Given the description of an element on the screen output the (x, y) to click on. 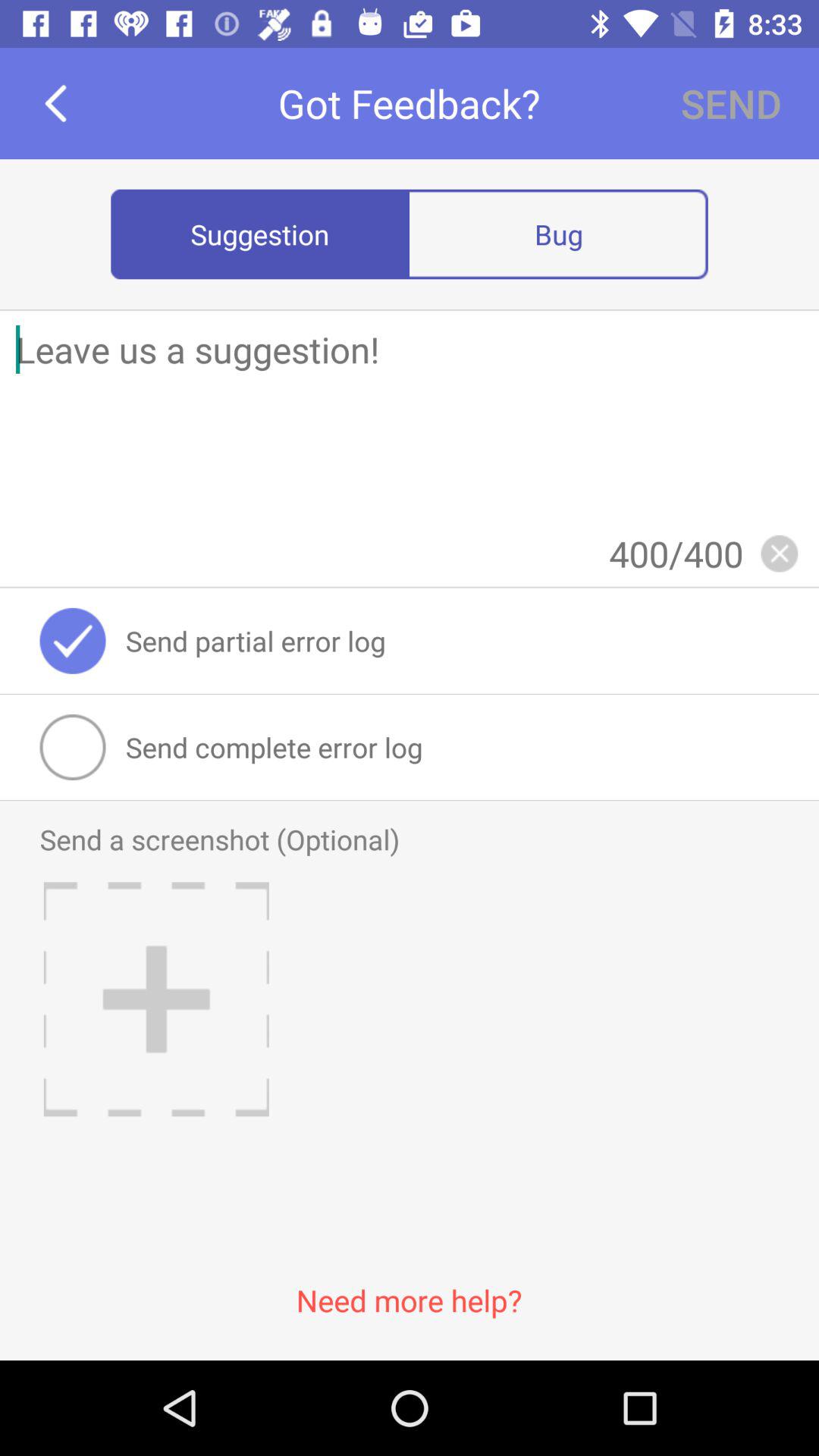
click the suggestion item (259, 234)
